Given the description of an element on the screen output the (x, y) to click on. 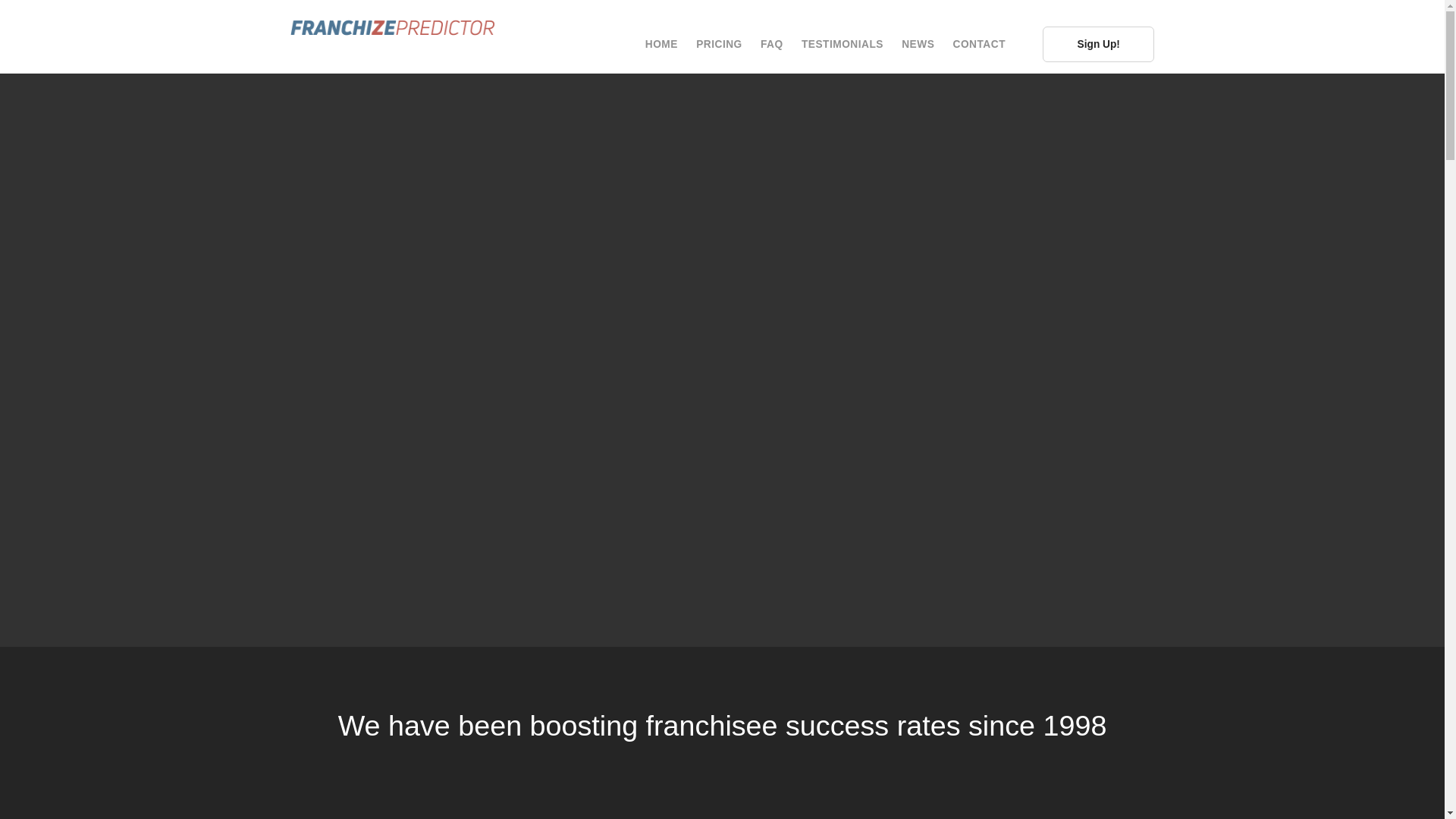
CONTACT (979, 43)
PRICING (718, 43)
TESTIMONIALS (842, 43)
Sign Up! (1098, 44)
HOME (661, 43)
FAQ (771, 43)
NEWS (917, 43)
